Given the description of an element on the screen output the (x, y) to click on. 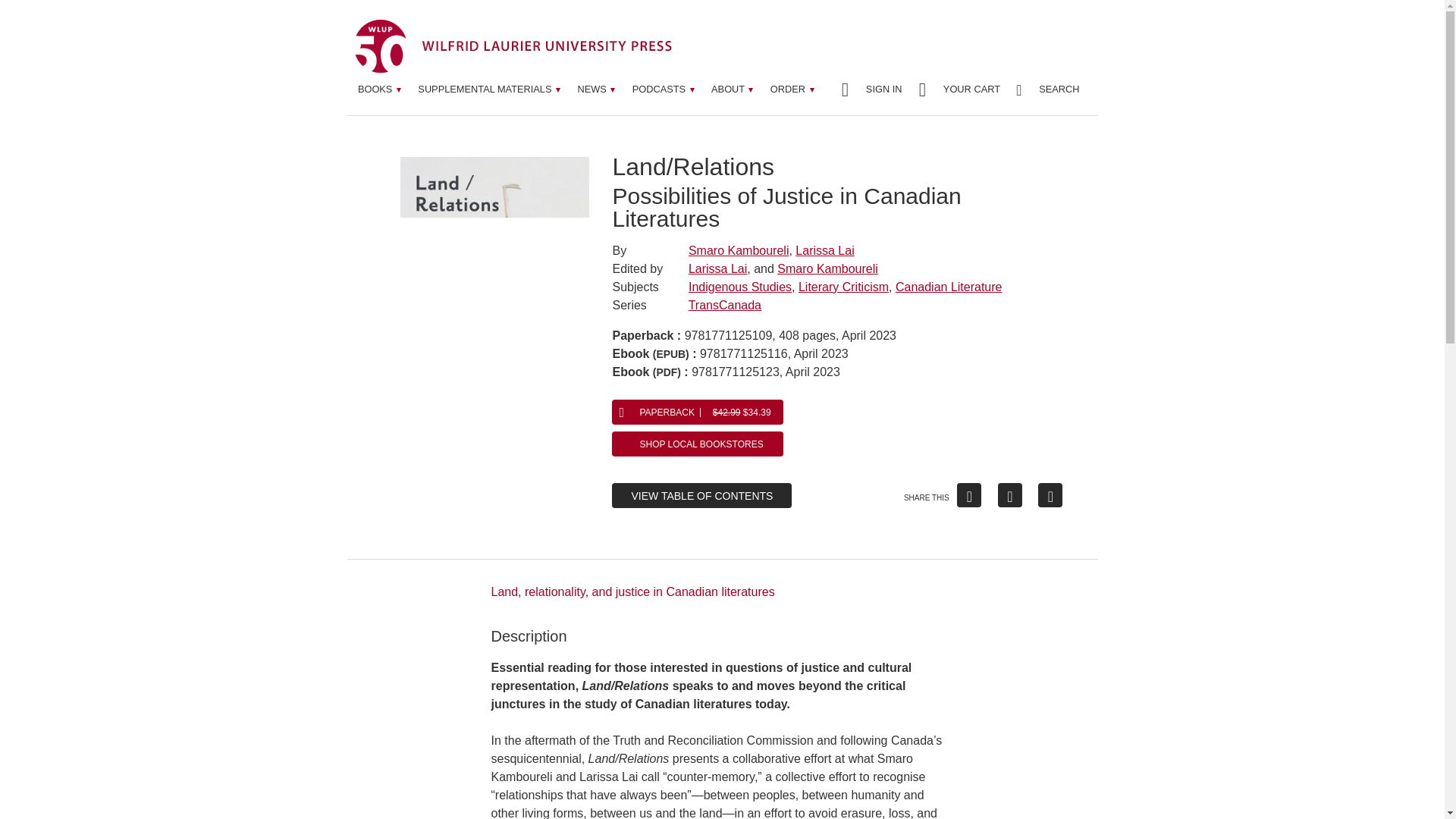
NEWS (596, 89)
SUPPLEMENTAL MATERIALS (488, 89)
BOOKS (379, 89)
ABOUT (732, 89)
Find an independent bookseller near you (697, 444)
WLU Press - Transforming Ideas (513, 45)
PODCASTS (662, 89)
